Given the description of an element on the screen output the (x, y) to click on. 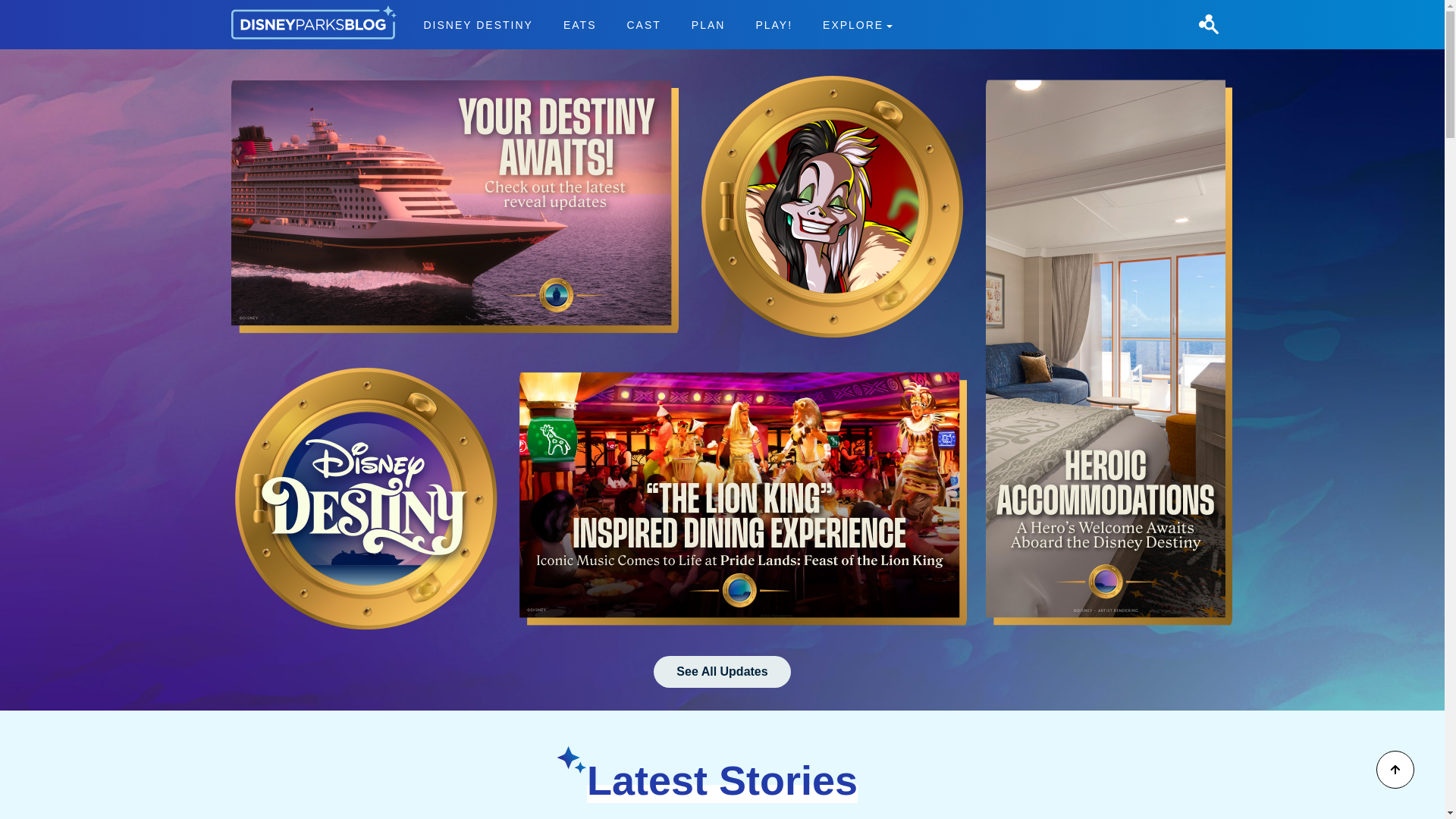
See All Updates (721, 671)
EXPLORE (857, 23)
PLAY! (773, 23)
Skip to content (40, 8)
CAST (643, 23)
DISNEY DESTINY (478, 23)
PLAN (657, 23)
EATS (708, 23)
